Given the description of an element on the screen output the (x, y) to click on. 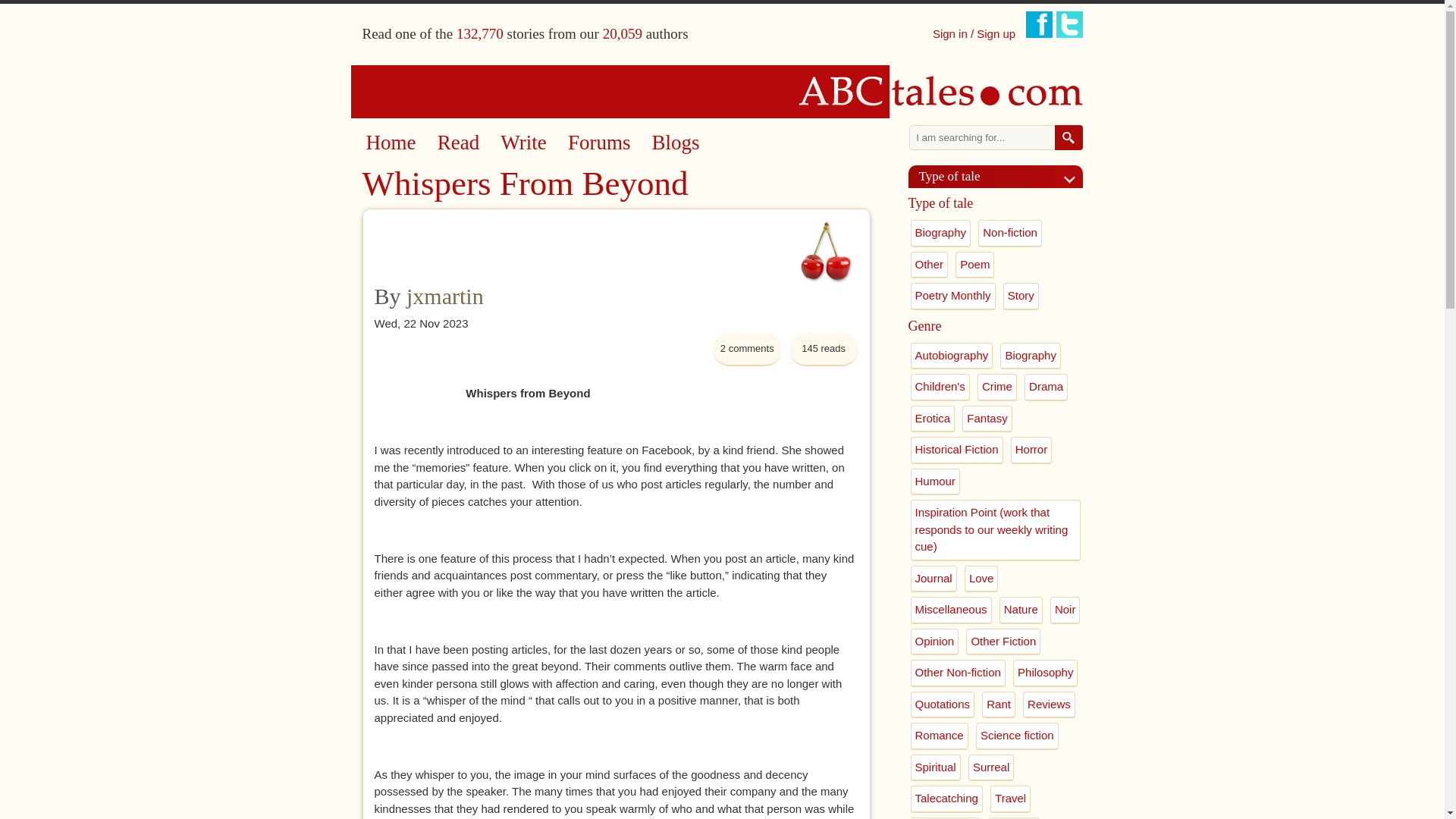
Enter the terms you wish to search for. (981, 137)
Autobiography (951, 356)
Biography (1030, 356)
Story (1021, 296)
Poem (974, 265)
Type of tale (1000, 175)
Home (722, 91)
Erotica (932, 418)
Read (458, 142)
Biography (940, 233)
